Given the description of an element on the screen output the (x, y) to click on. 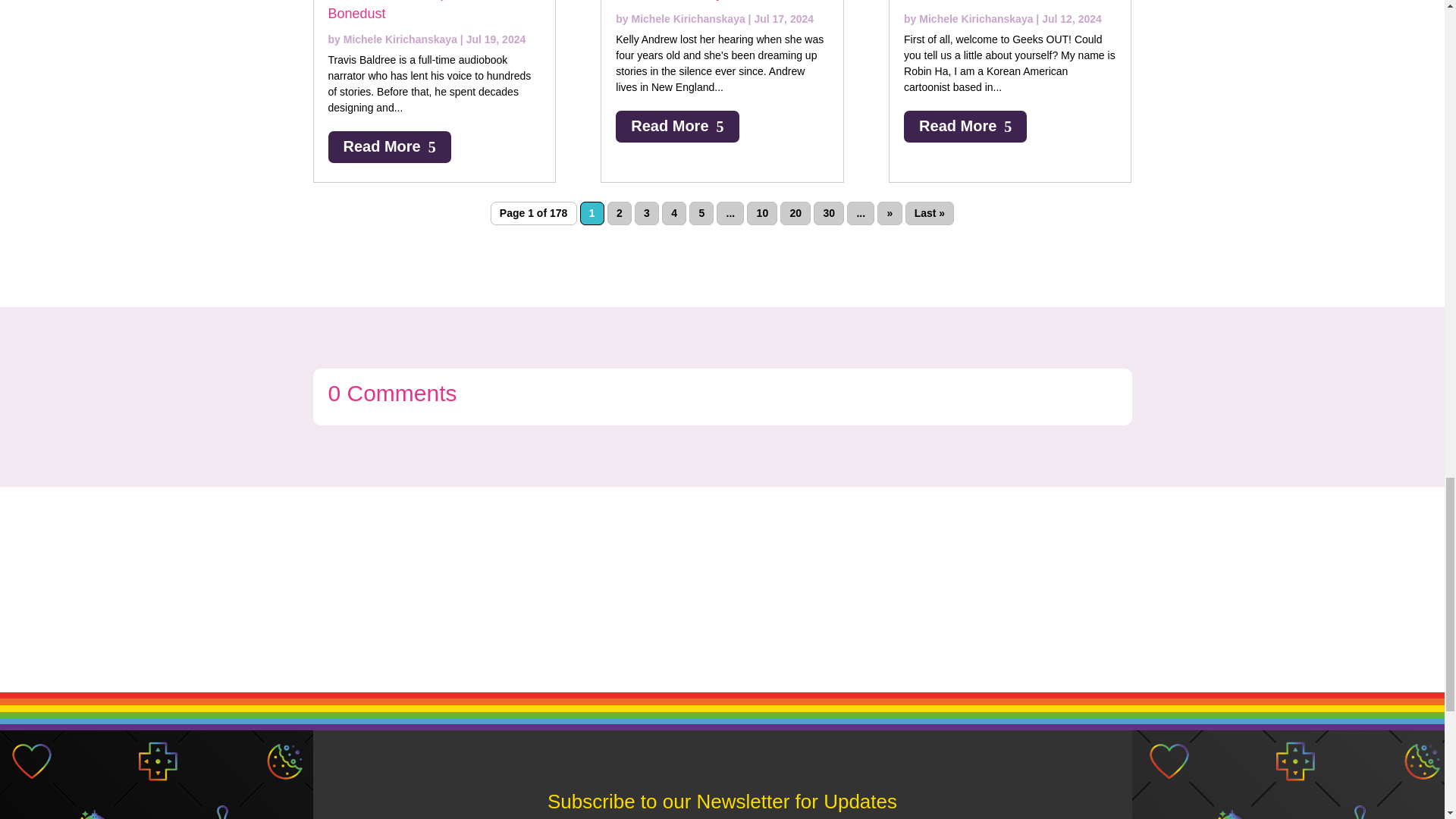
Page 10 (761, 213)
Posts by Michele Kirichanskaya (975, 19)
Page 3 (646, 213)
Page 30 (828, 213)
Michele Kirichanskaya (400, 39)
Posts by Michele Kirichanskaya (688, 19)
Read More (388, 146)
Posts by Michele Kirichanskaya (400, 39)
Page 20 (795, 213)
Read More (676, 126)
Michele Kirichanskaya (688, 19)
Page 4 (673, 213)
Page 2 (619, 213)
